Given the description of an element on the screen output the (x, y) to click on. 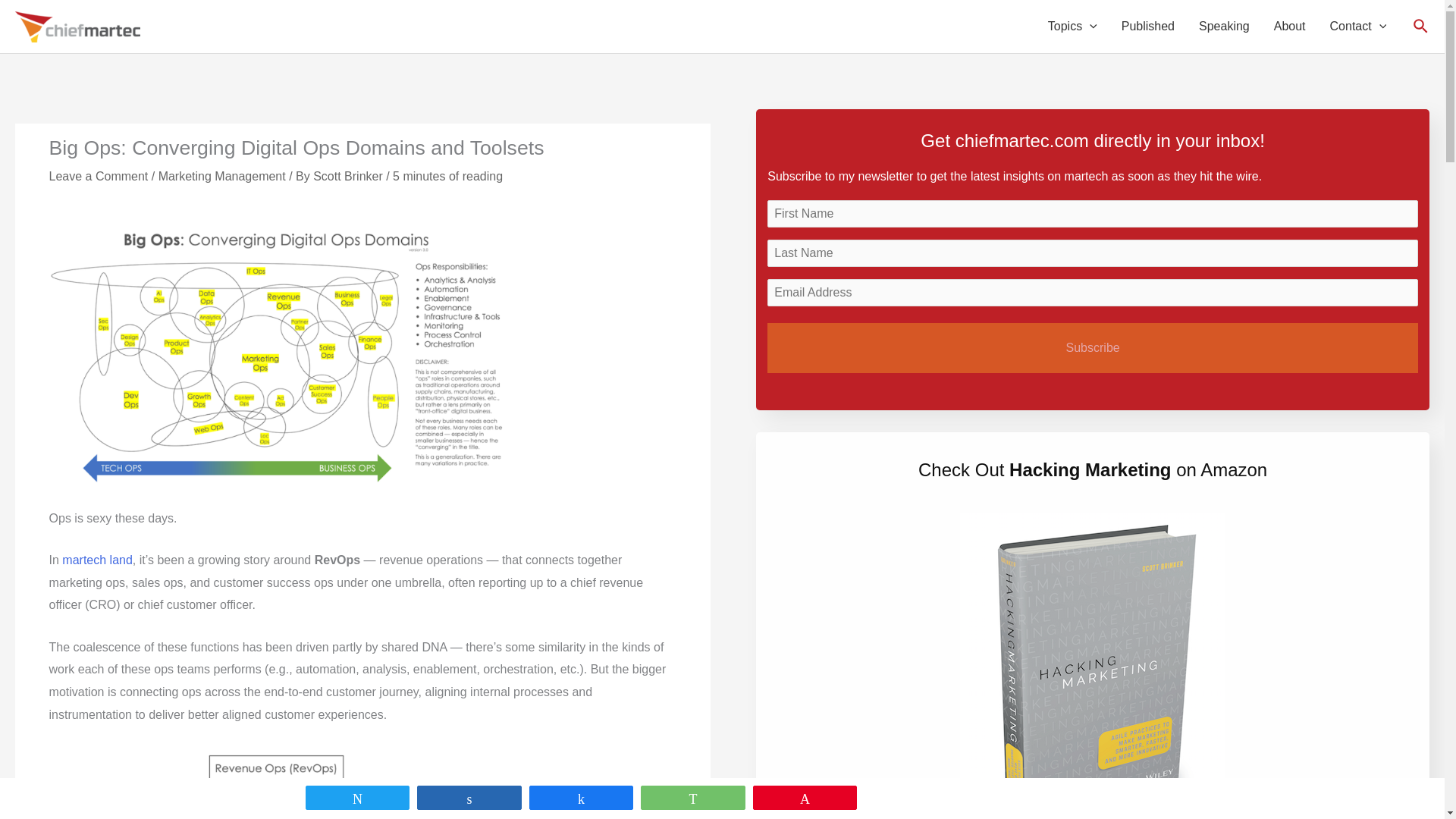
Contact (1358, 26)
Subscribe (1092, 347)
Speaking (1224, 26)
Published (1147, 26)
Big Ops: Converging Digital Ops Domains (276, 347)
About (1289, 26)
View all posts by Scott Brinker (349, 175)
Topics (1072, 26)
